Given the description of an element on the screen output the (x, y) to click on. 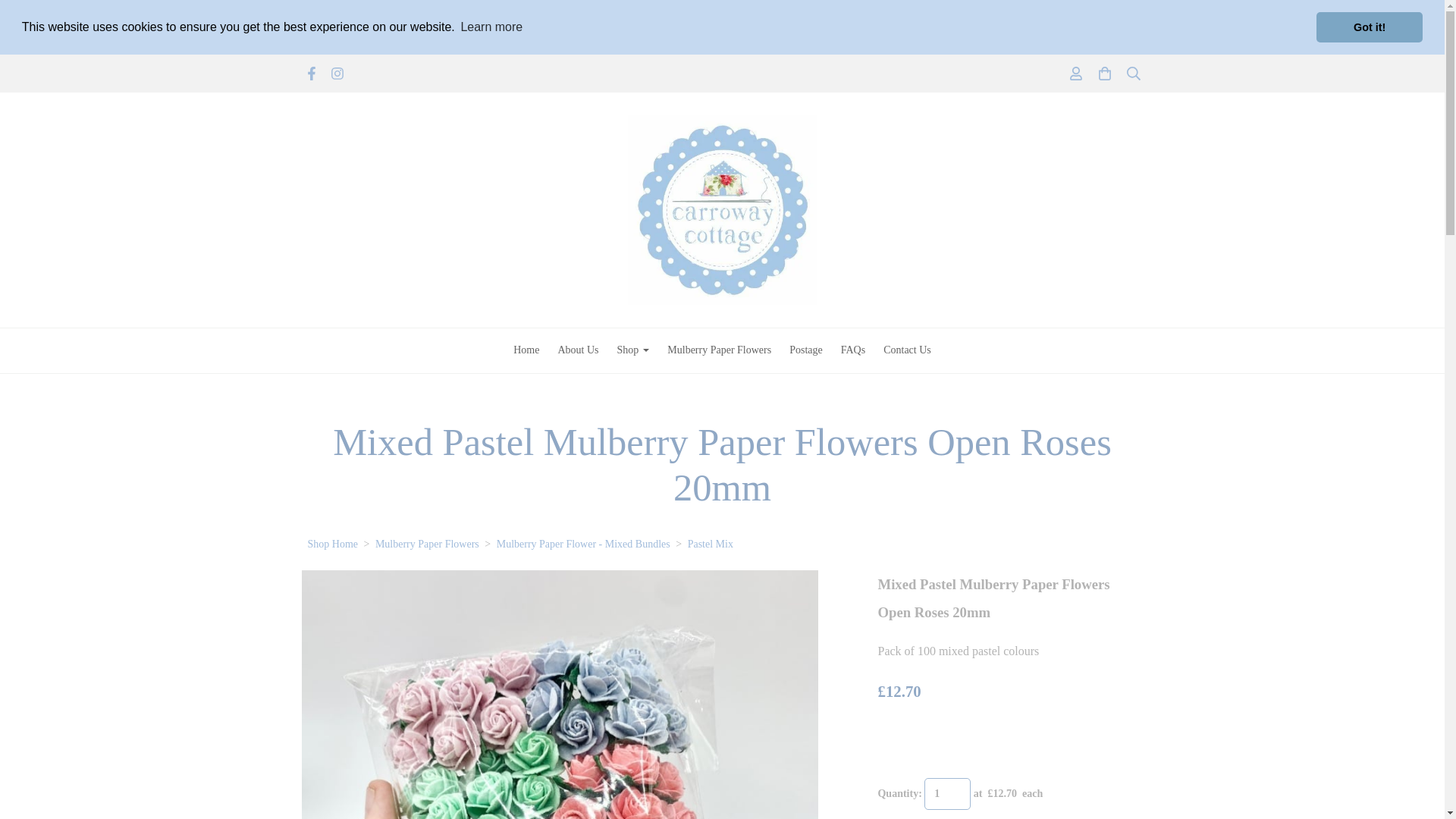
instagram (337, 75)
facebook (311, 75)
1 (947, 793)
Got it! (1369, 27)
Home (525, 349)
Learn more (491, 26)
About Us (577, 349)
Shop (633, 349)
